Given the description of an element on the screen output the (x, y) to click on. 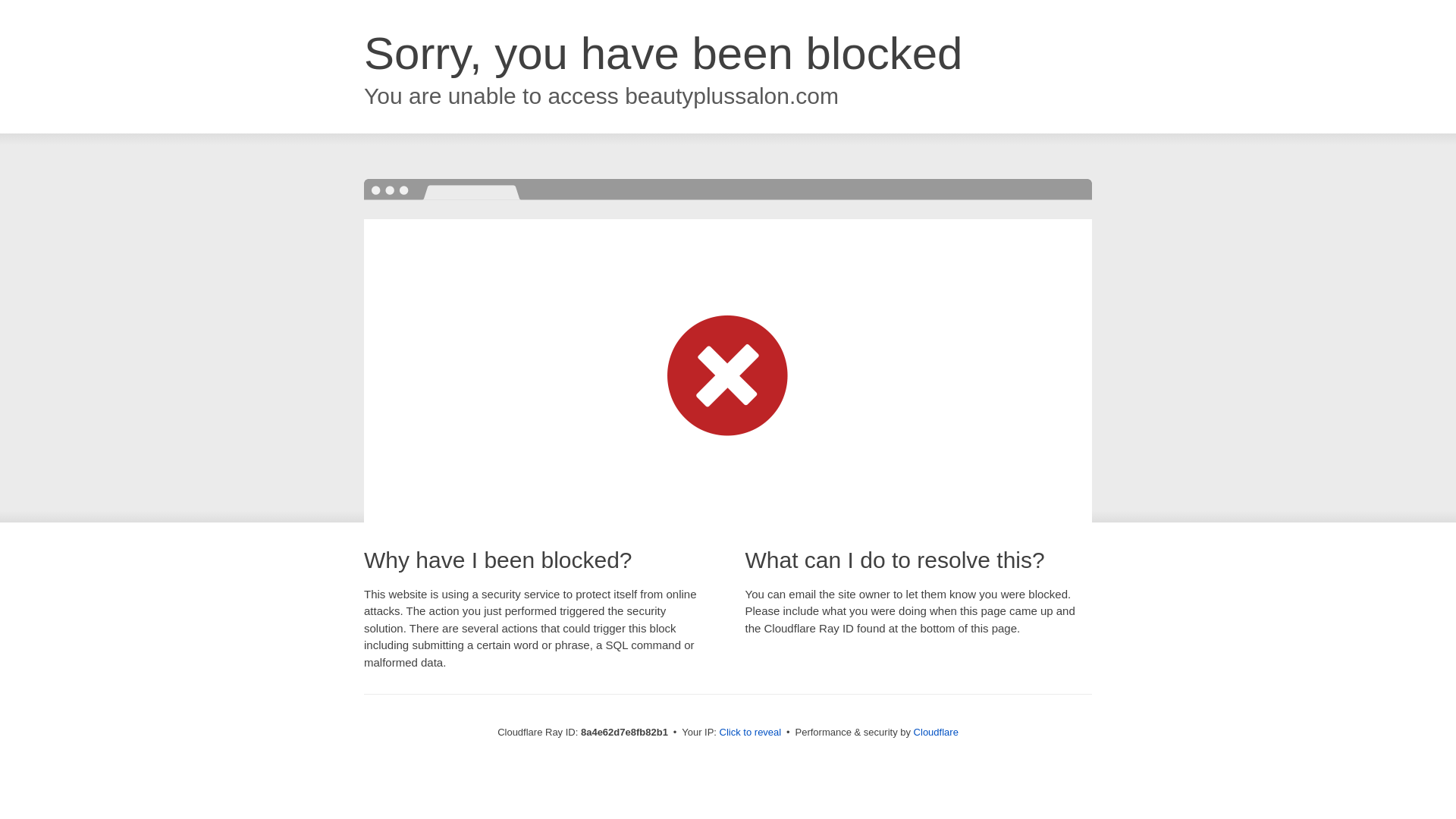
Click to reveal (750, 732)
Cloudflare (936, 731)
